Given the description of an element on the screen output the (x, y) to click on. 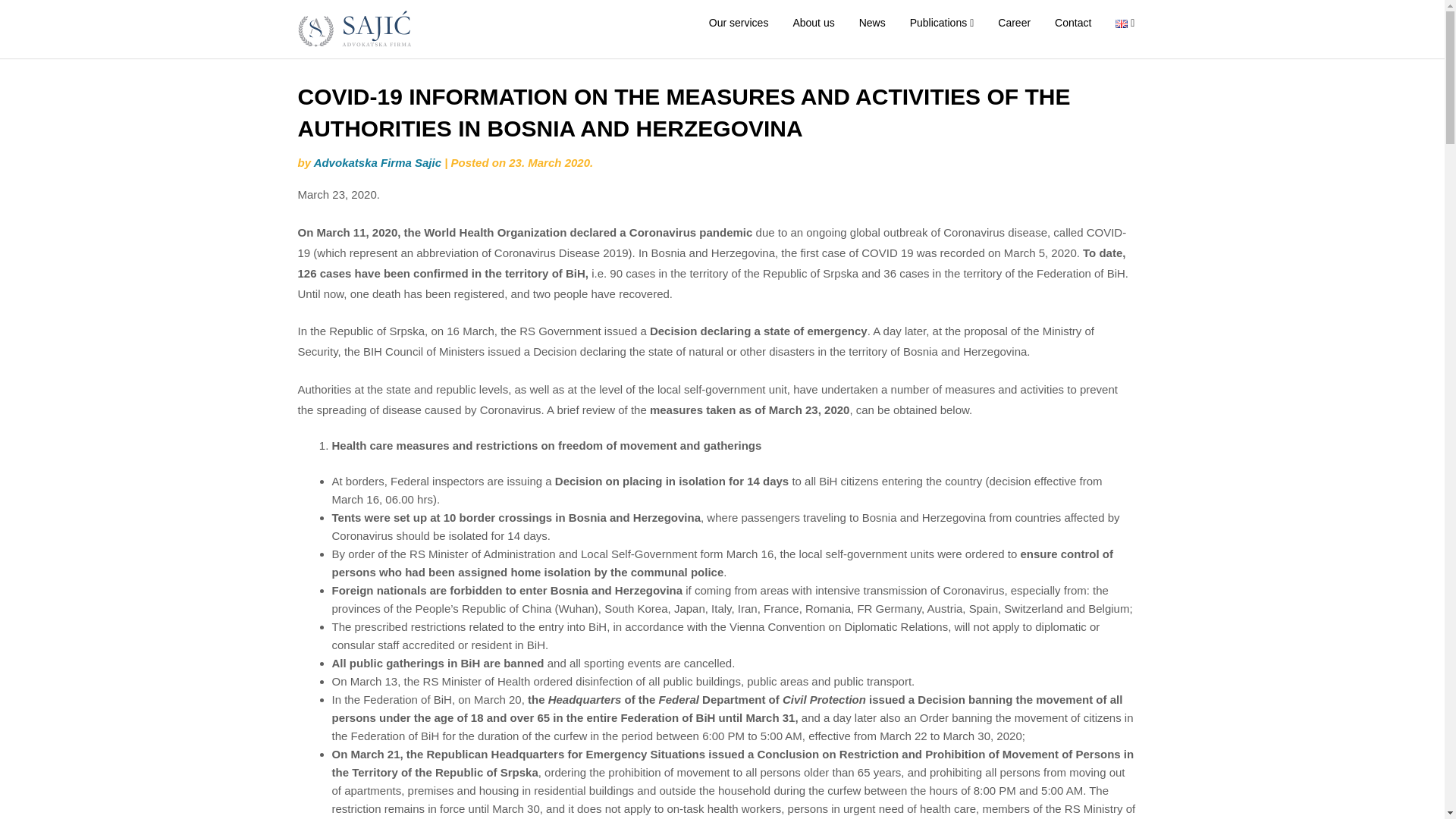
23. March 2020. (550, 162)
Contact (1072, 22)
News (872, 22)
About us (812, 22)
Our services (738, 22)
Career (1013, 22)
Publications (942, 22)
Advokatska Firma Sajic (377, 162)
English (1120, 23)
